Given the description of an element on the screen output the (x, y) to click on. 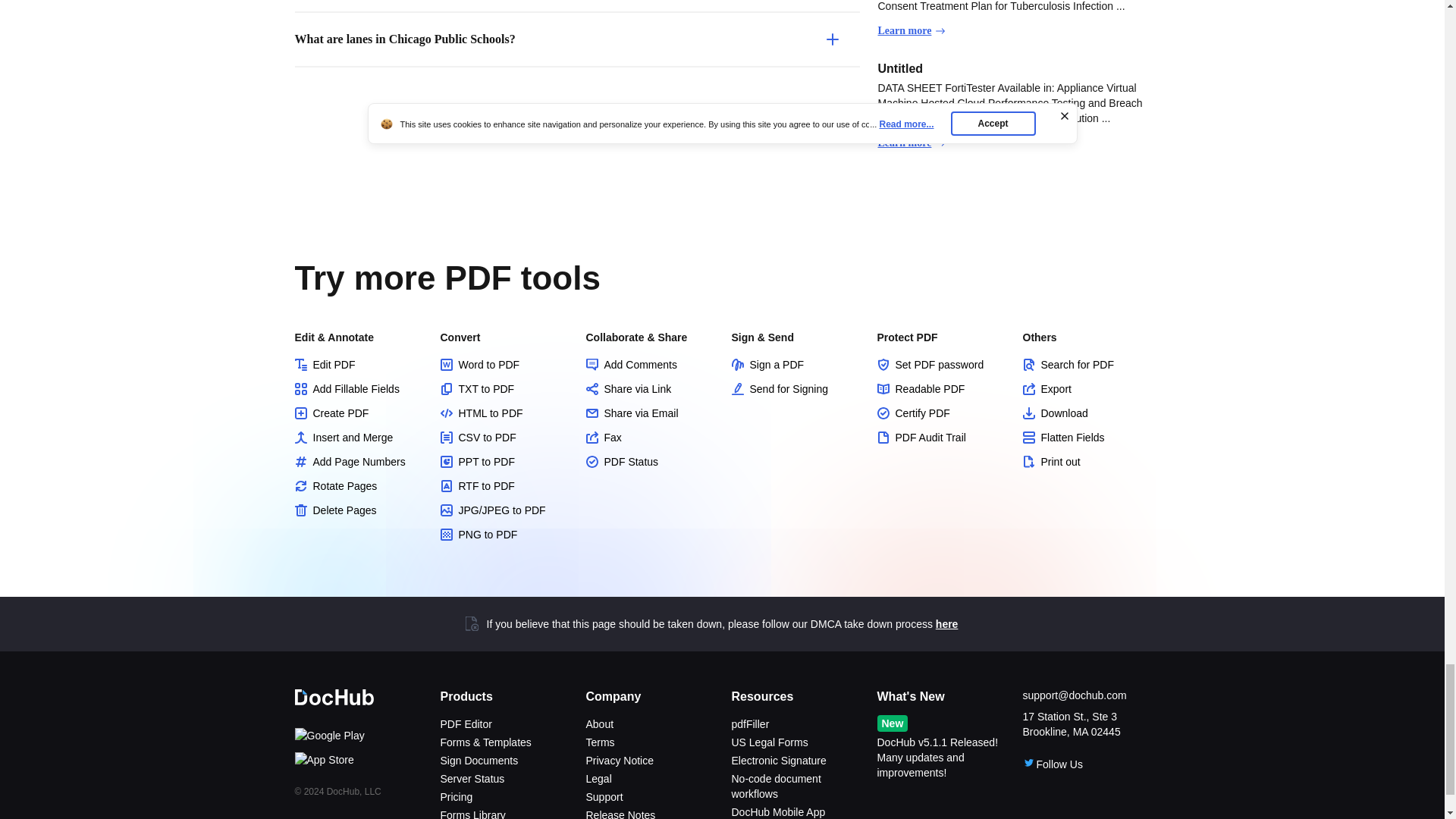
Insert and Merge (358, 437)
Rotate Pages (358, 485)
Add Fillable Fields (358, 388)
Learn more (910, 142)
Create PDF (358, 412)
Add Page Numbers (358, 461)
Edit PDF (358, 364)
Learn more (910, 30)
